Given the description of an element on the screen output the (x, y) to click on. 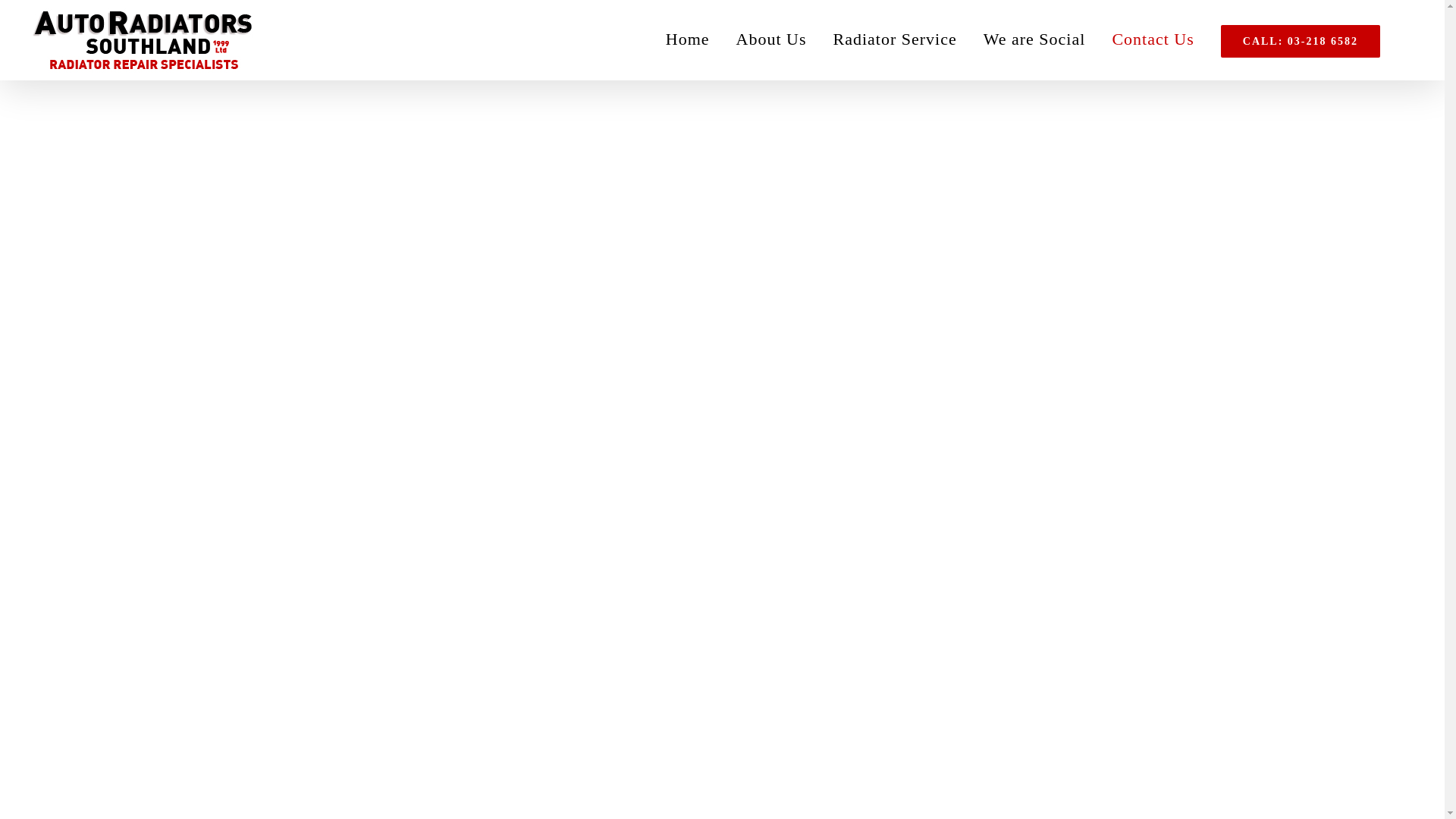
About Us (770, 39)
Contact Us (1153, 39)
Home (687, 39)
CALL: 03-218 6582 (1300, 39)
We are Social (1034, 39)
Radiator Service (894, 39)
